Given the description of an element on the screen output the (x, y) to click on. 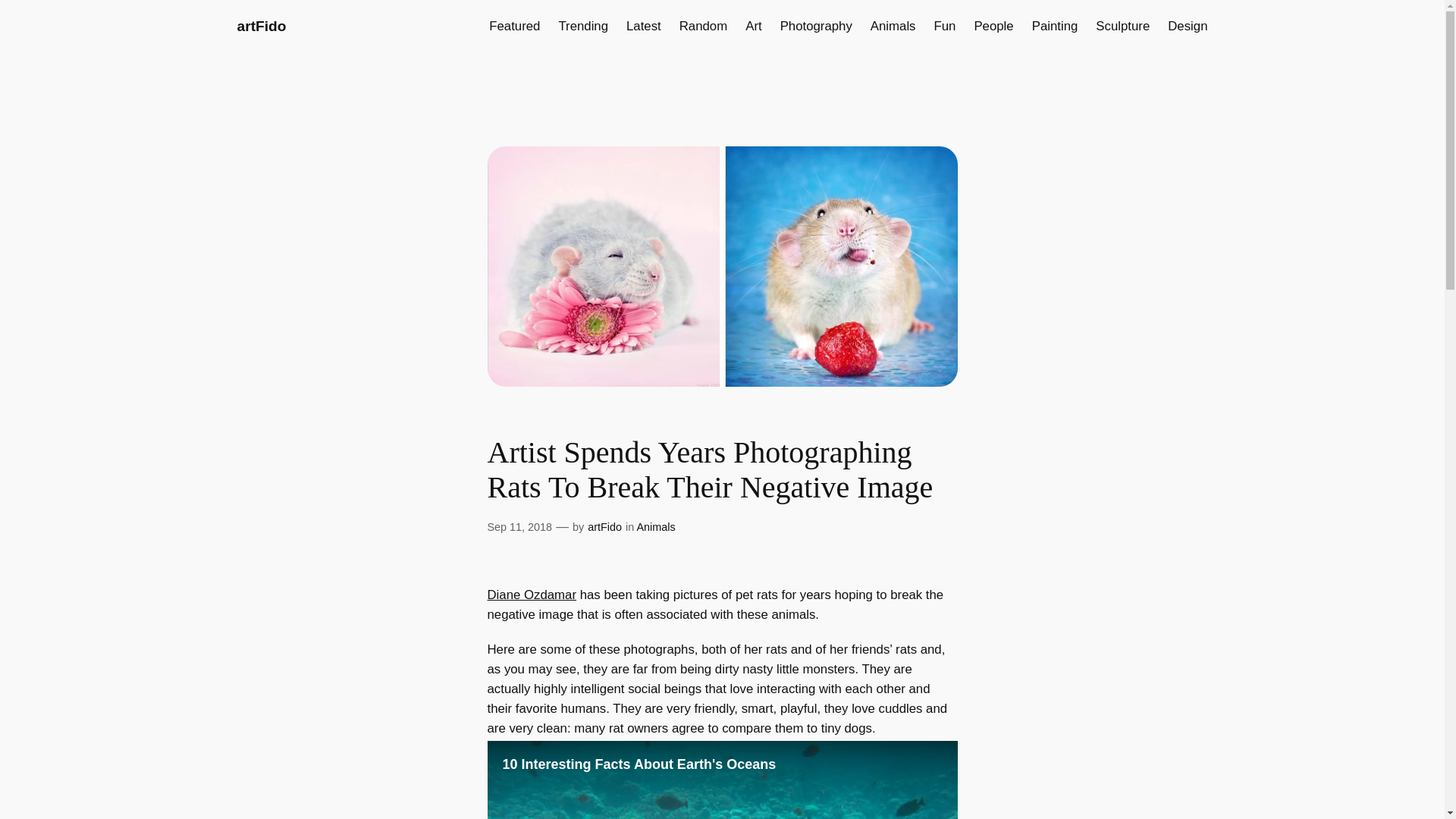
Painting (1055, 26)
Sep 11, 2018 (518, 526)
Animals (655, 526)
Diane Ozdamar (531, 594)
artFido (604, 526)
People (993, 26)
Design (1187, 26)
Animals (892, 26)
Random (702, 26)
Sculpture (1123, 26)
Featured (514, 26)
Latest (643, 26)
artFido (260, 26)
Photography (815, 26)
Fun (945, 26)
